Given the description of an element on the screen output the (x, y) to click on. 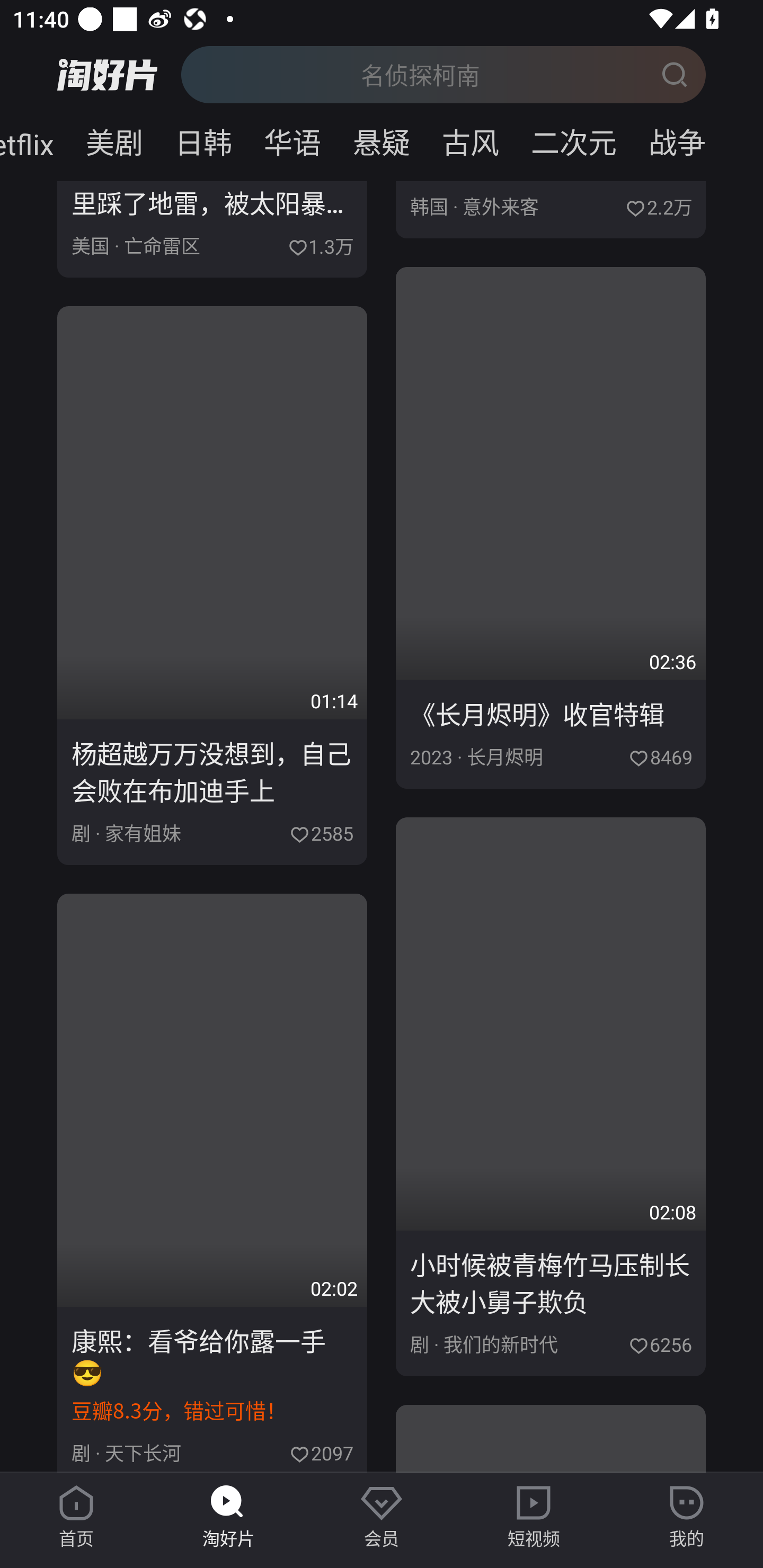
搜索框，名侦探柯南 名侦探柯南  (443, 74)
美剧 (114, 139)
日韩 (202, 139)
华语 (292, 139)
悬疑 (381, 139)
古风 (470, 139)
二次元 (573, 139)
战争 (697, 139)
这个狙击手太惨了！沙漠里踩了地雷，被太阳暴晒70个小时！ 美国 · 亡命雷区  1.3万 (212, 229)
韩国 · 意外来客  2.2万 (550, 209)
 2.2万 (657, 205)
 1.3万 (319, 244)
02:36 《长月烬明》收官特辑 2023 · 长月烬明  8469 (550, 527)
01:14 杨超越万万没想到，自己会败在布加迪手上 剧 · 家有姐妹  2585 (212, 585)
 8469 (659, 755)
 2585 (320, 831)
02:08 小时候被青梅竹马压制长大被小舅子欺负 剧 · 我们的新时代  6256 (550, 1096)
02:02 康熙：看爷给你露一手😎 豆瓣8.3分，错过可惜！ 剧 · 天下长河  2097 (212, 1182)
 6256 (659, 1342)
 2097 (320, 1451)
首页 (76, 1516)
淘好片 (228, 1516)
会员 (381, 1516)
短视频 (533, 1516)
我的 (686, 1516)
